Given the description of an element on the screen output the (x, y) to click on. 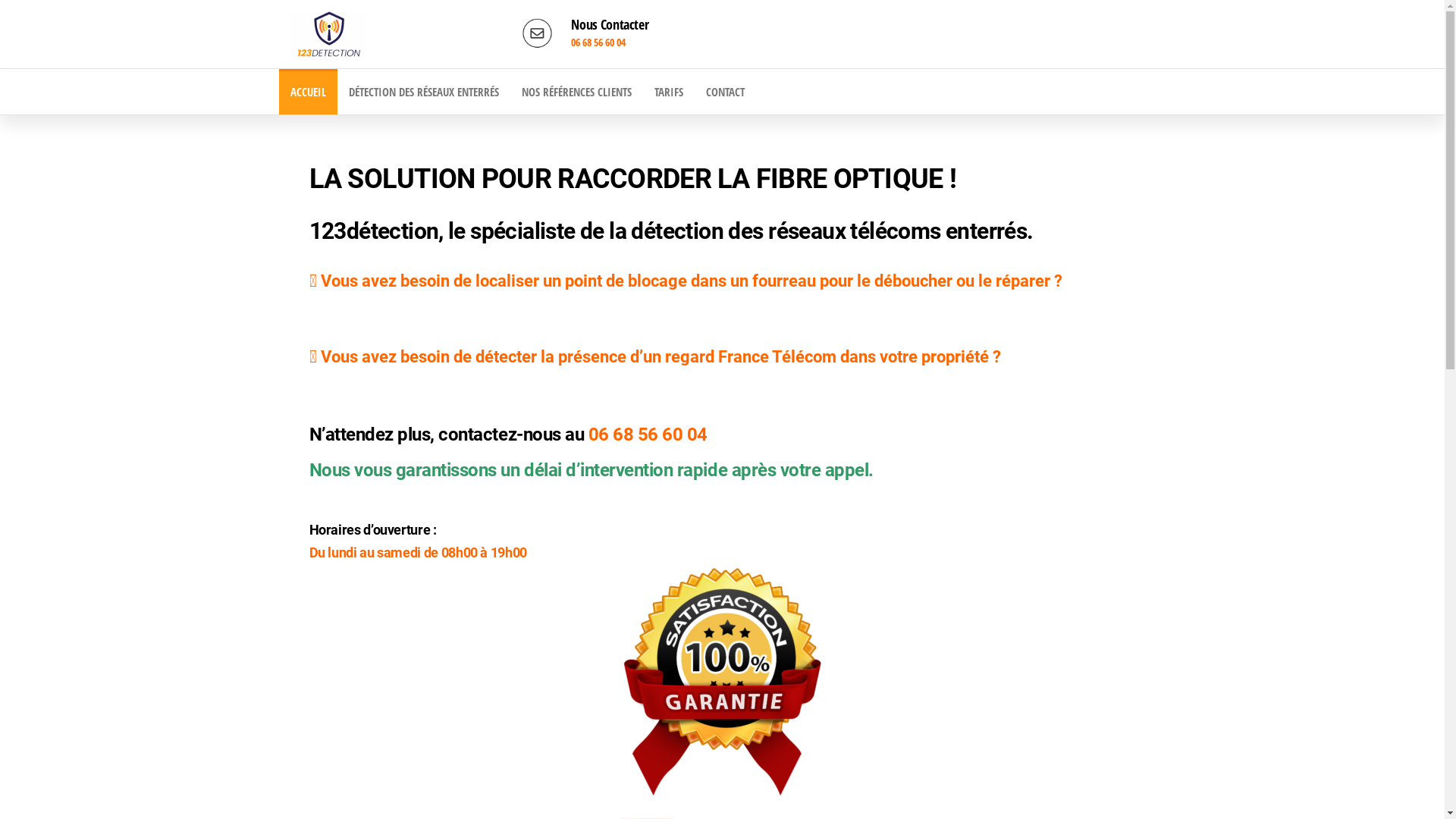
TARIFS Element type: text (668, 91)
ACCUEIL Element type: text (308, 91)
CONTACT Element type: text (725, 91)
